Given the description of an element on the screen output the (x, y) to click on. 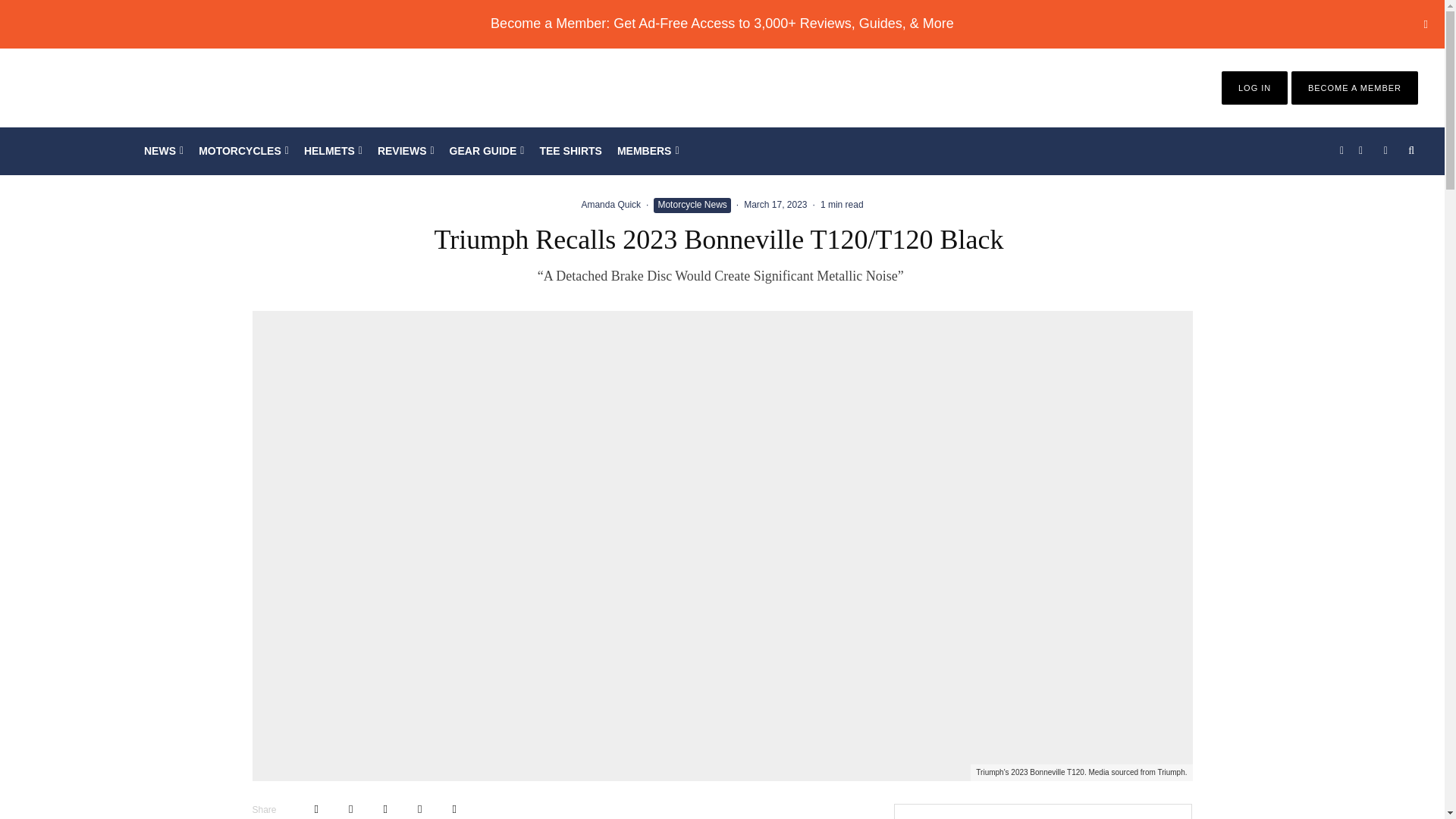
MOTORCYCLES (243, 150)
BECOME A MEMBER (1353, 87)
NEWS (163, 150)
LOG IN (1255, 87)
